Given the description of an element on the screen output the (x, y) to click on. 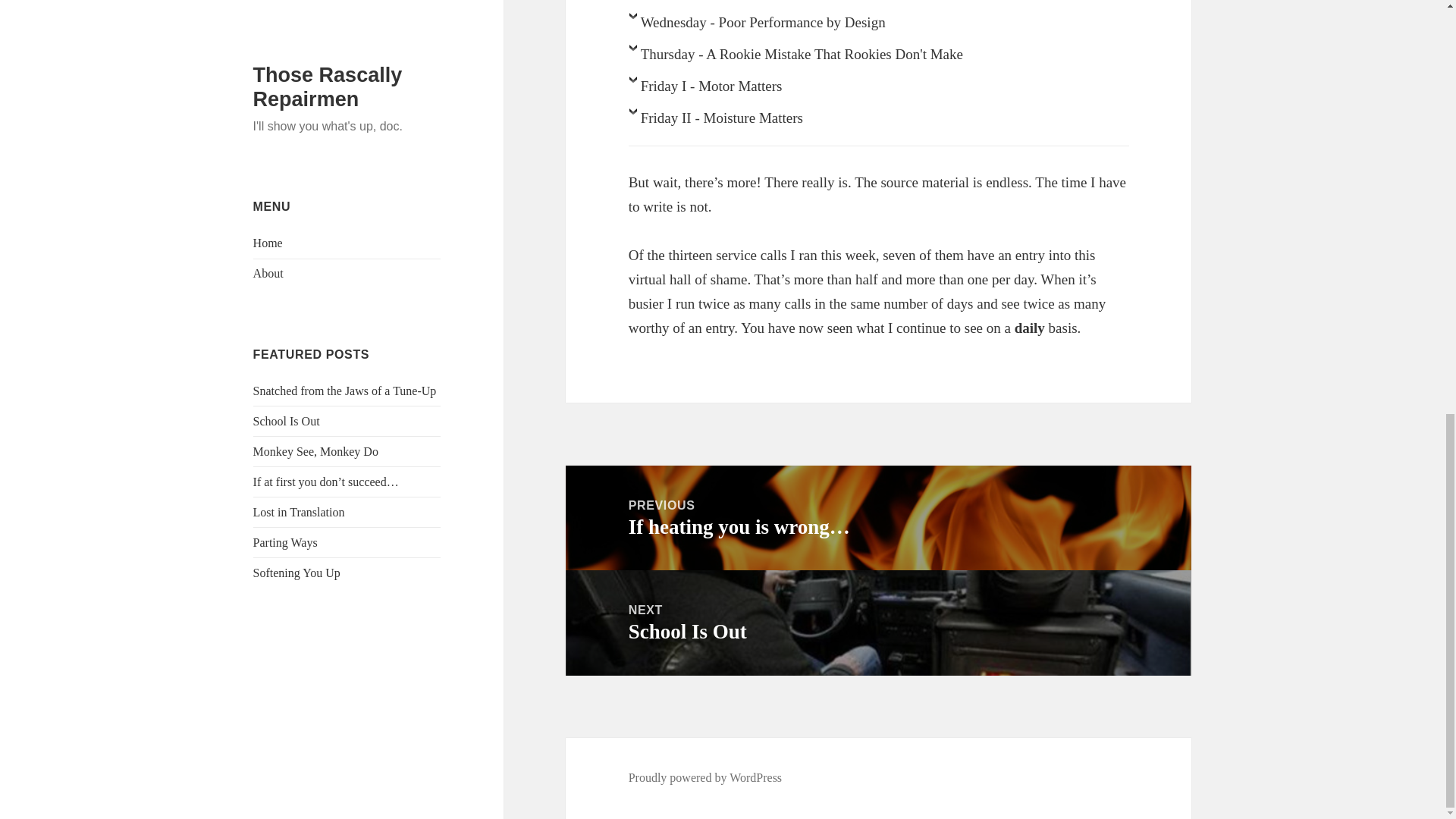
Wednesday - Poor Performance by Design (878, 26)
Thursday - A Rookie Mistake That Rookies Don't Make (878, 58)
Proudly powered by WordPress (704, 777)
Friday II - Moisture Matters (878, 622)
Friday I - Motor Matters (878, 122)
